Given the description of an element on the screen output the (x, y) to click on. 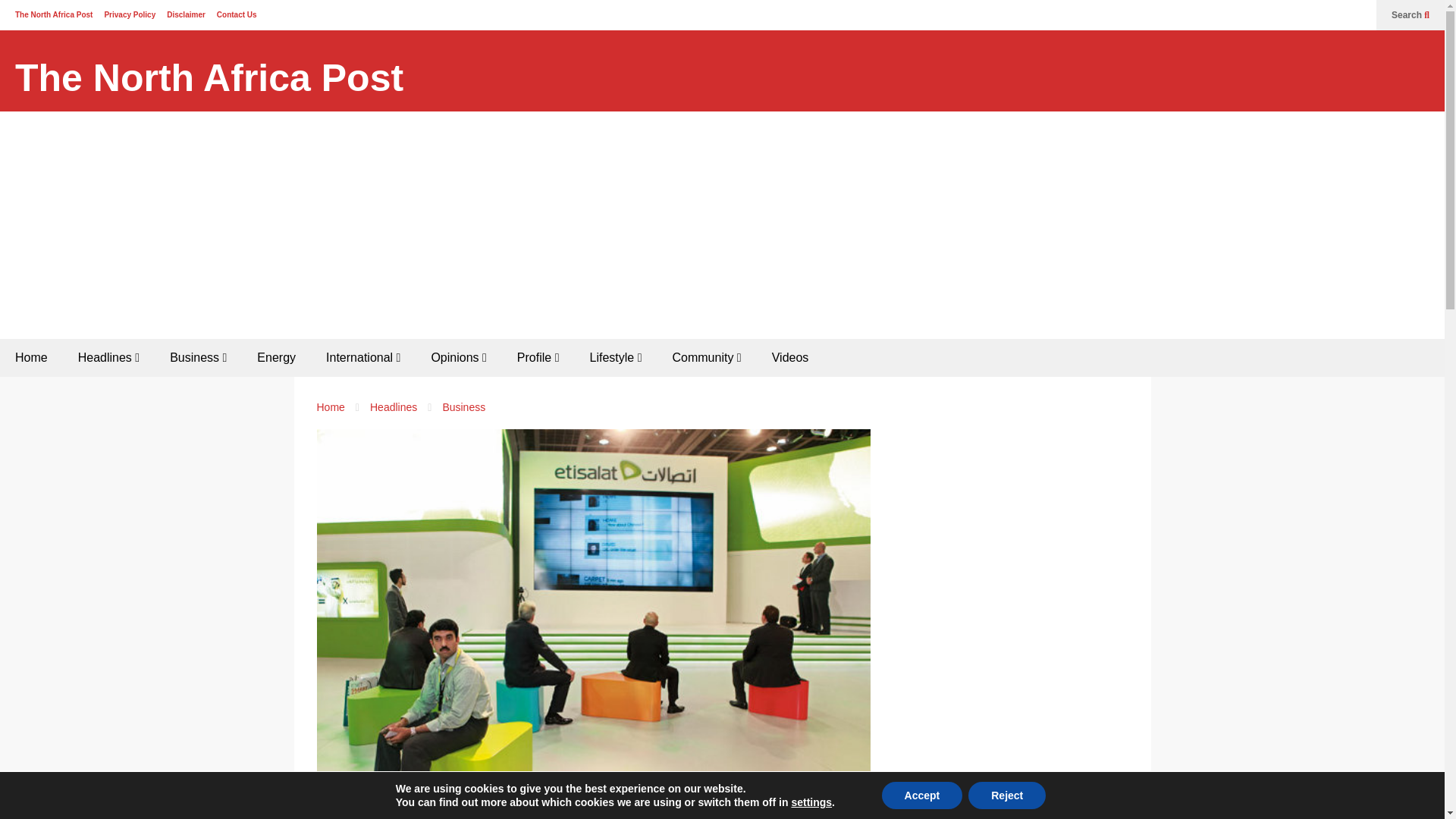
The North Africa Post (208, 78)
Opinions (457, 357)
Videos (790, 357)
Search (1410, 15)
Contact Us (236, 14)
Lifestyle (616, 357)
Headlines (108, 357)
Privacy Policy (129, 14)
